Given the description of an element on the screen output the (x, y) to click on. 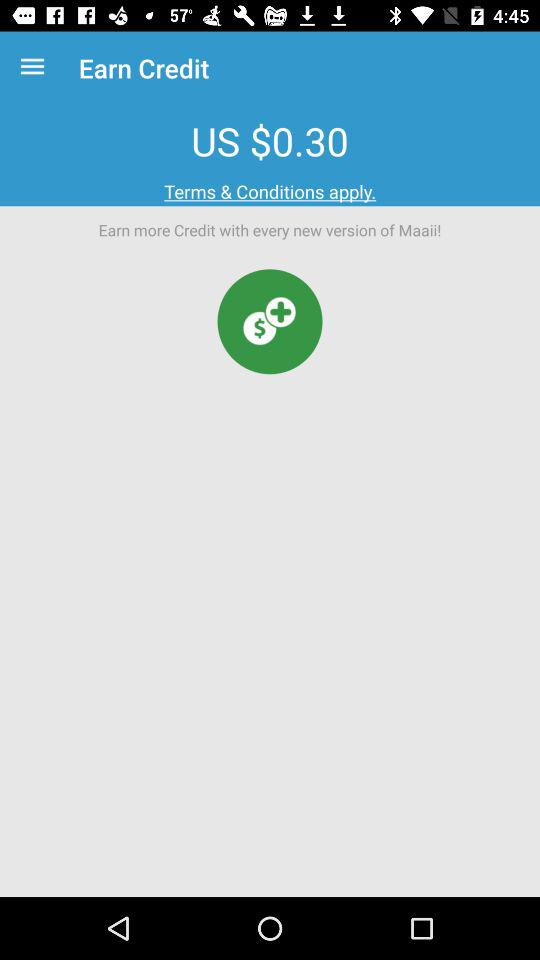
open terms & conditions apply. item (270, 191)
